Given the description of an element on the screen output the (x, y) to click on. 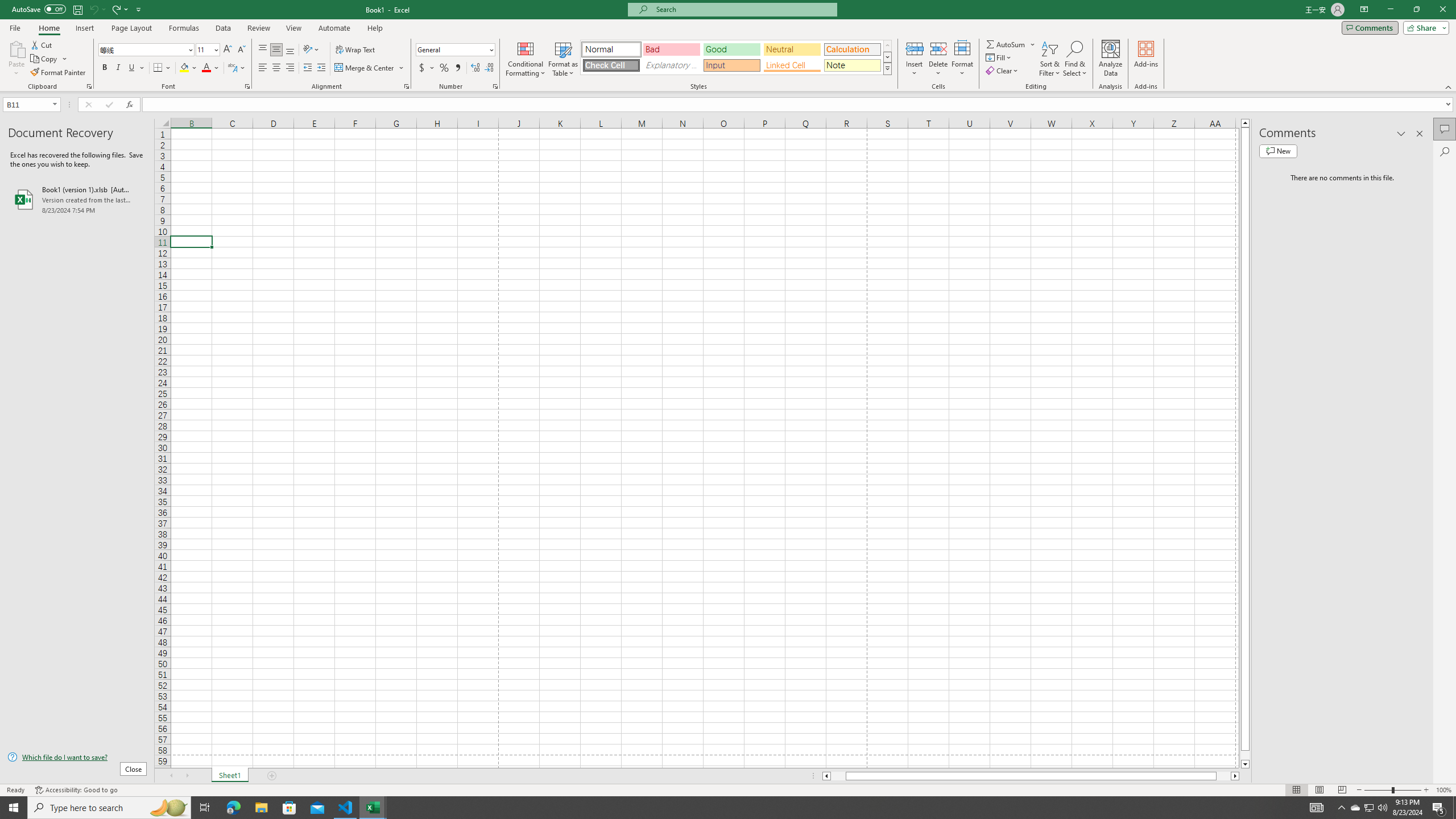
Linked Cell (791, 65)
Bold (104, 67)
Copy (49, 58)
Decrease Decimal (489, 67)
Restore Down (1416, 9)
Comma Style (457, 67)
Cut (42, 44)
Format Cell Font (247, 85)
